Given the description of an element on the screen output the (x, y) to click on. 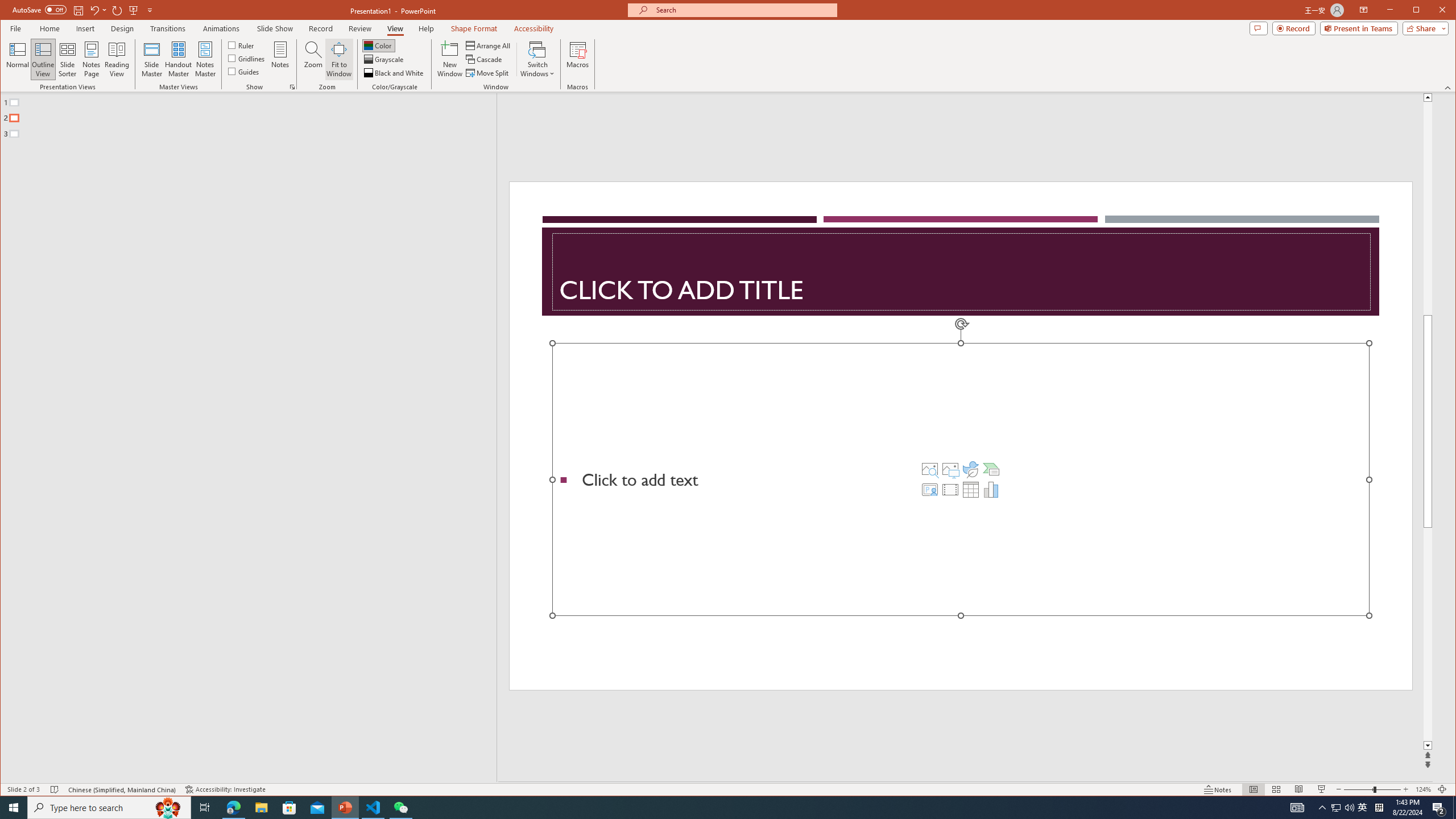
Macros (576, 59)
Notes Master (204, 59)
Zoom... (312, 59)
Notes Page (91, 59)
